Given the description of an element on the screen output the (x, y) to click on. 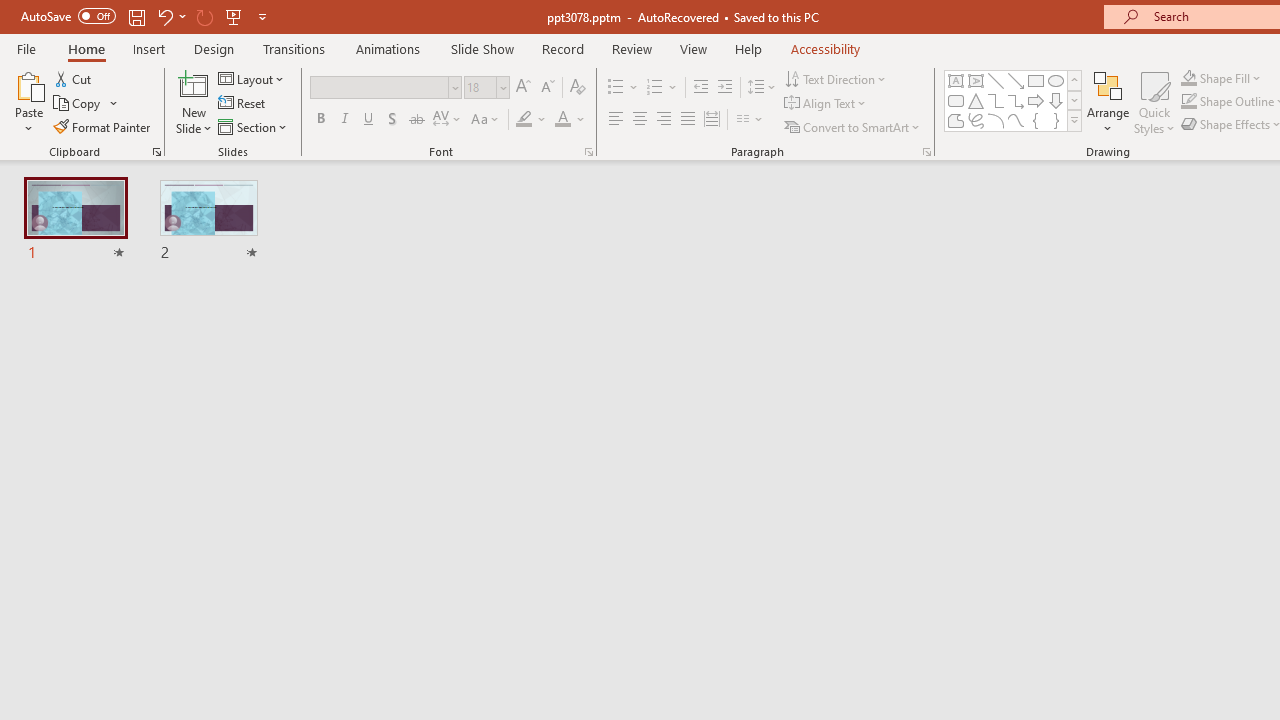
Shape Fill Dark Green, Accent 2 (1188, 78)
